Given the description of an element on the screen output the (x, y) to click on. 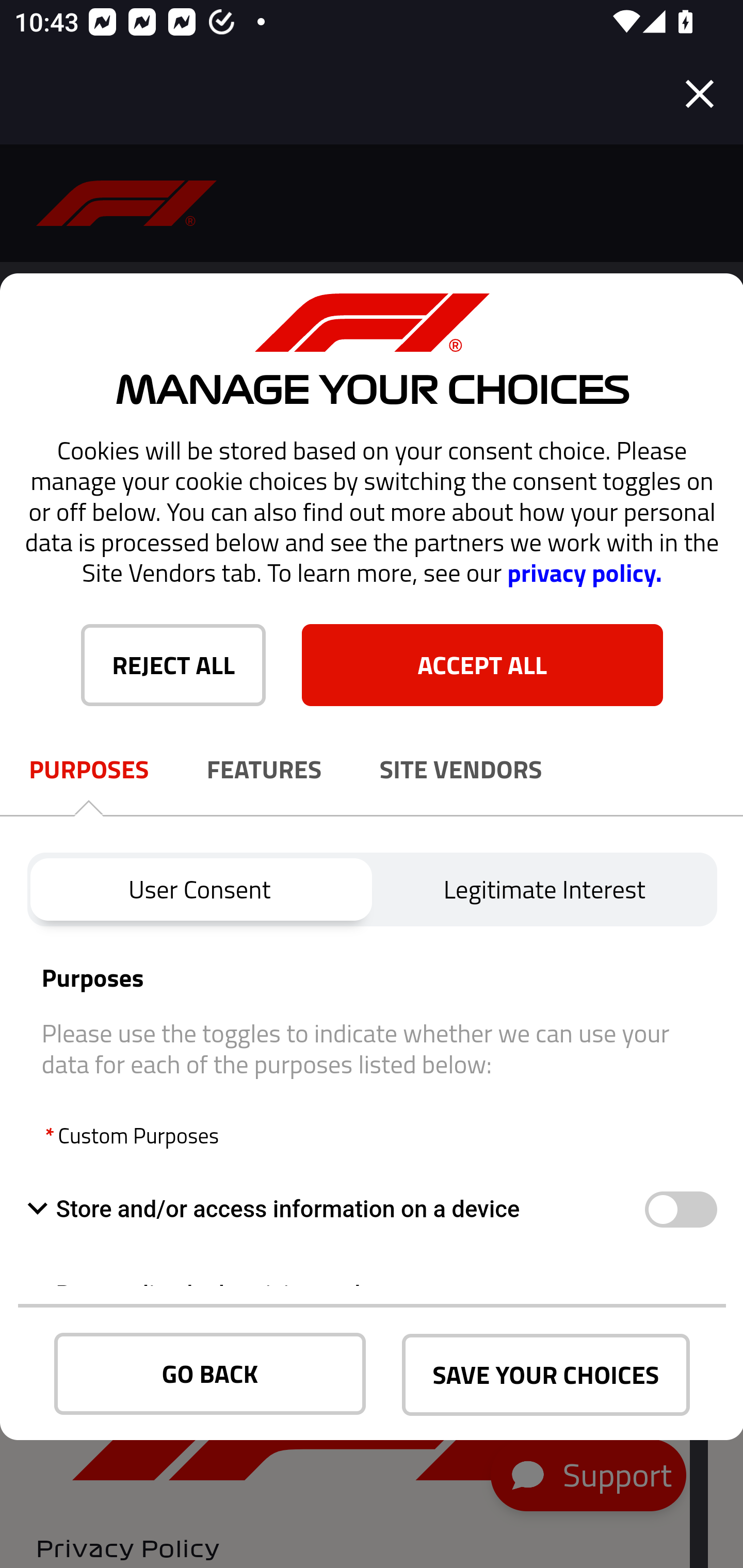
Close (699, 93)
privacy policy. (583, 572)
REJECT ALL (173, 664)
ACCEPT ALL (481, 664)
PURPOSES (89, 769)
FEATURES (264, 769)
SITE VENDORS (461, 769)
User Consent (199, 889)
Legitimate Interest (545, 889)
Store and/or access information on a device (335, 1209)
Store and/or access information on a device (680, 1210)
GO BACK (210, 1373)
SAVE YOUR CHOICES (546, 1374)
